Given the description of an element on the screen output the (x, y) to click on. 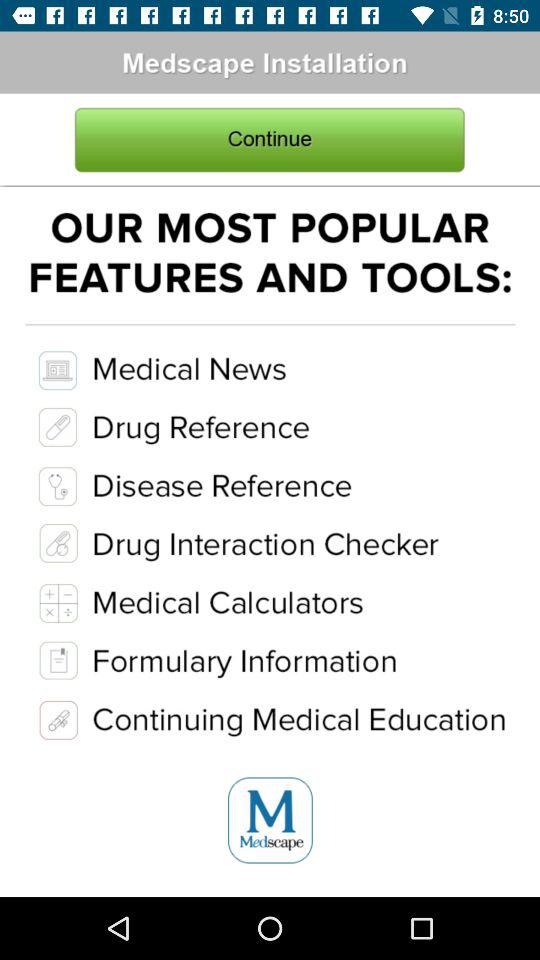
continue button (269, 139)
